Given the description of an element on the screen output the (x, y) to click on. 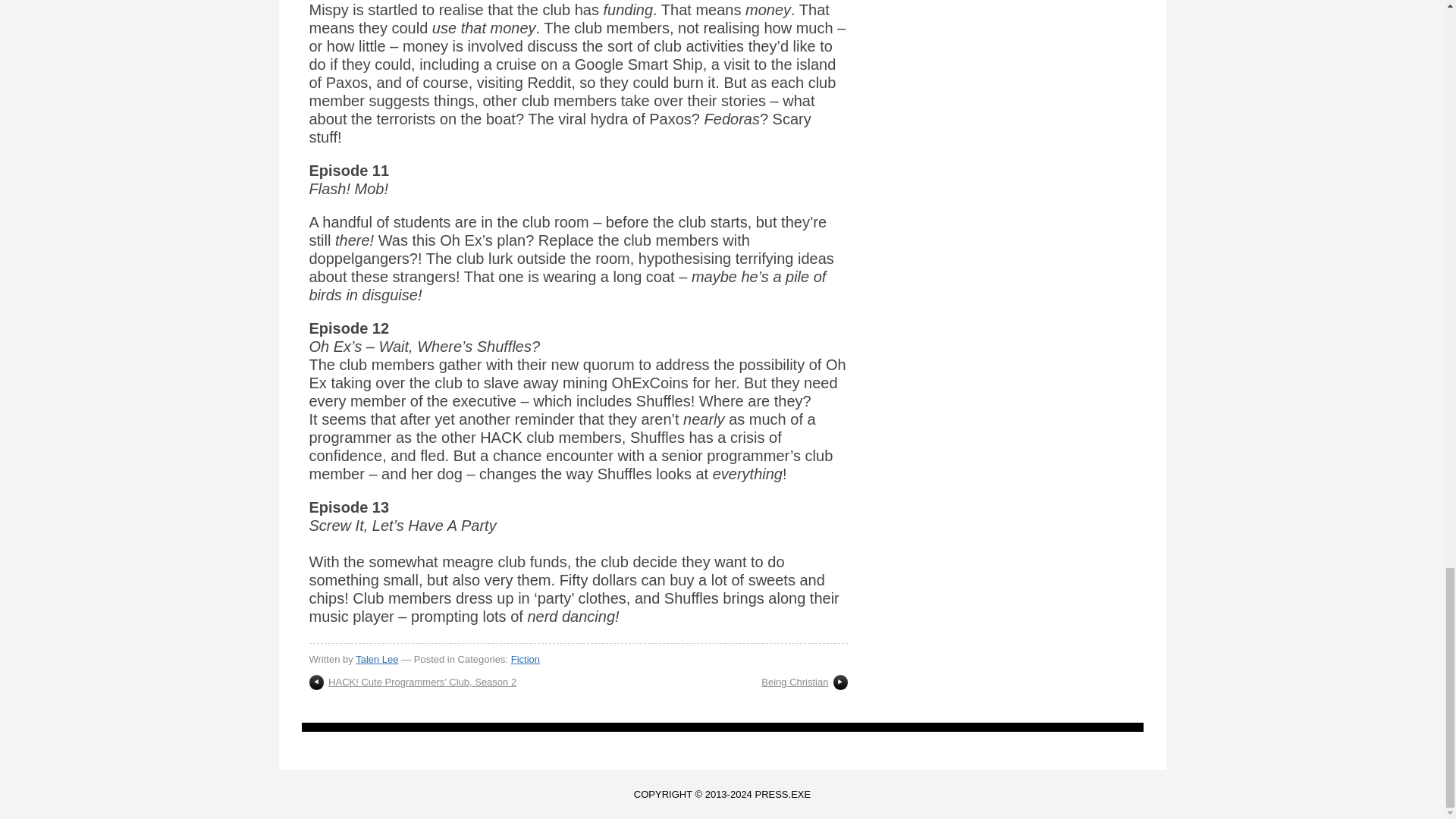
Fiction (525, 659)
Posts by Talen Lee (376, 659)
Talen Lee (376, 659)
Being Christian (794, 682)
